Given the description of an element on the screen output the (x, y) to click on. 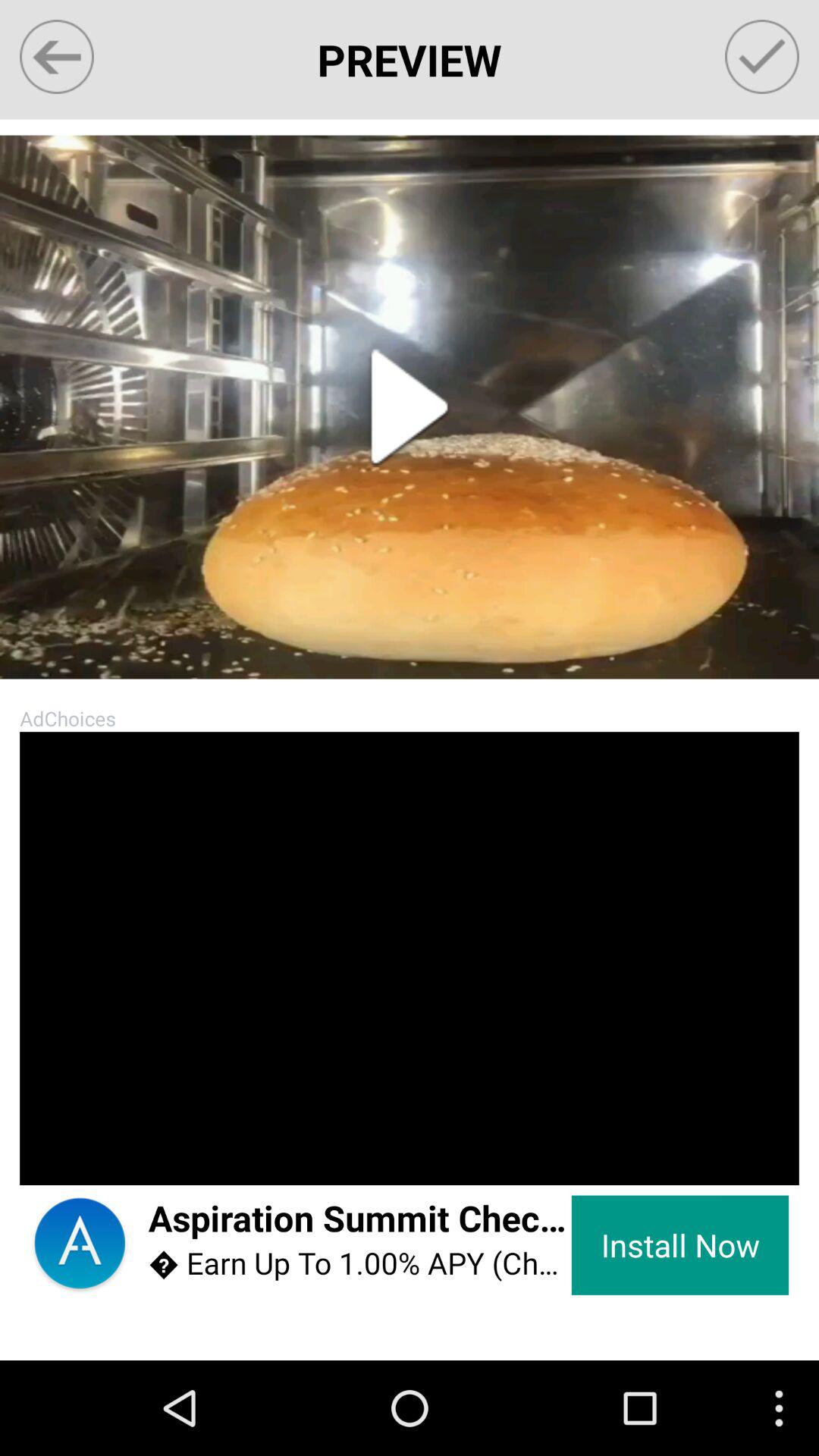
choose item at the top right corner (762, 56)
